Given the description of an element on the screen output the (x, y) to click on. 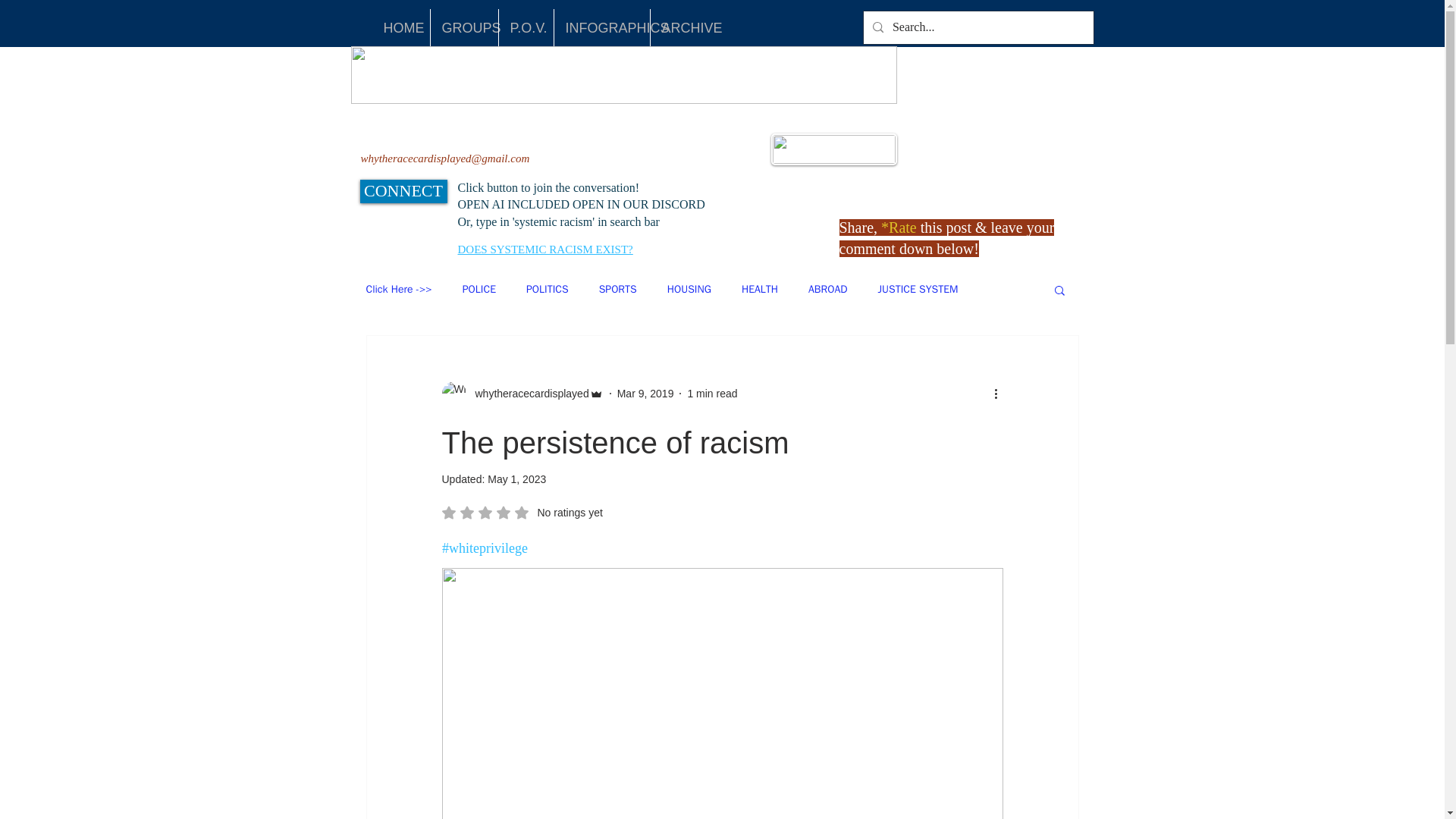
May 1, 2023 (516, 479)
P.O.V. (526, 27)
GROUPS (463, 27)
POLICE (479, 289)
whytheracecardisplayed (521, 393)
ARCHIVE (684, 27)
1 min read (711, 392)
INFOGRAPHICS (601, 27)
HEALTH (759, 289)
ABROAD (827, 289)
